Given the description of an element on the screen output the (x, y) to click on. 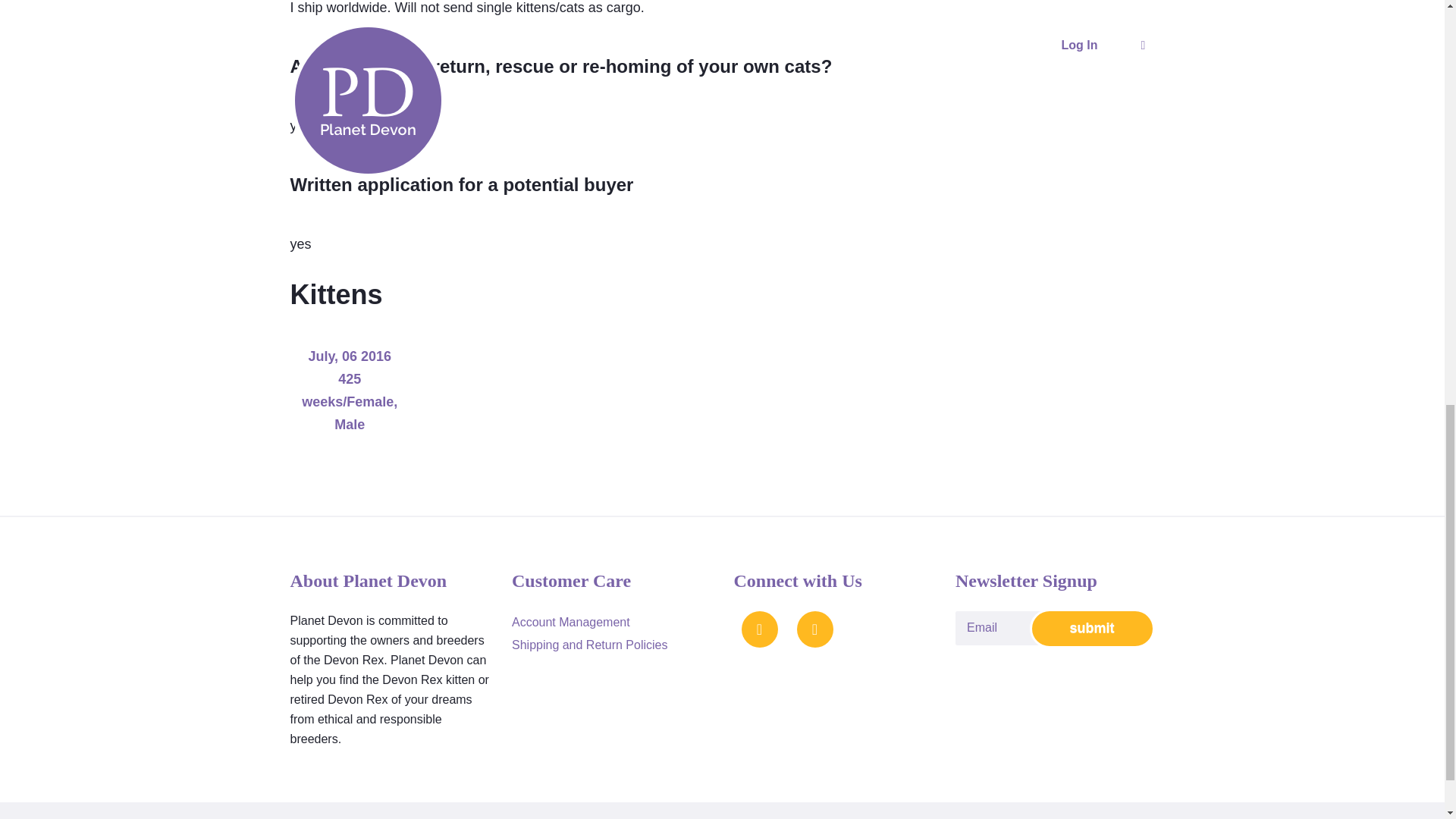
Shipping and Return Policies (589, 644)
Account Management (571, 621)
Submit (1091, 628)
Submit (1091, 628)
